Given the description of an element on the screen output the (x, y) to click on. 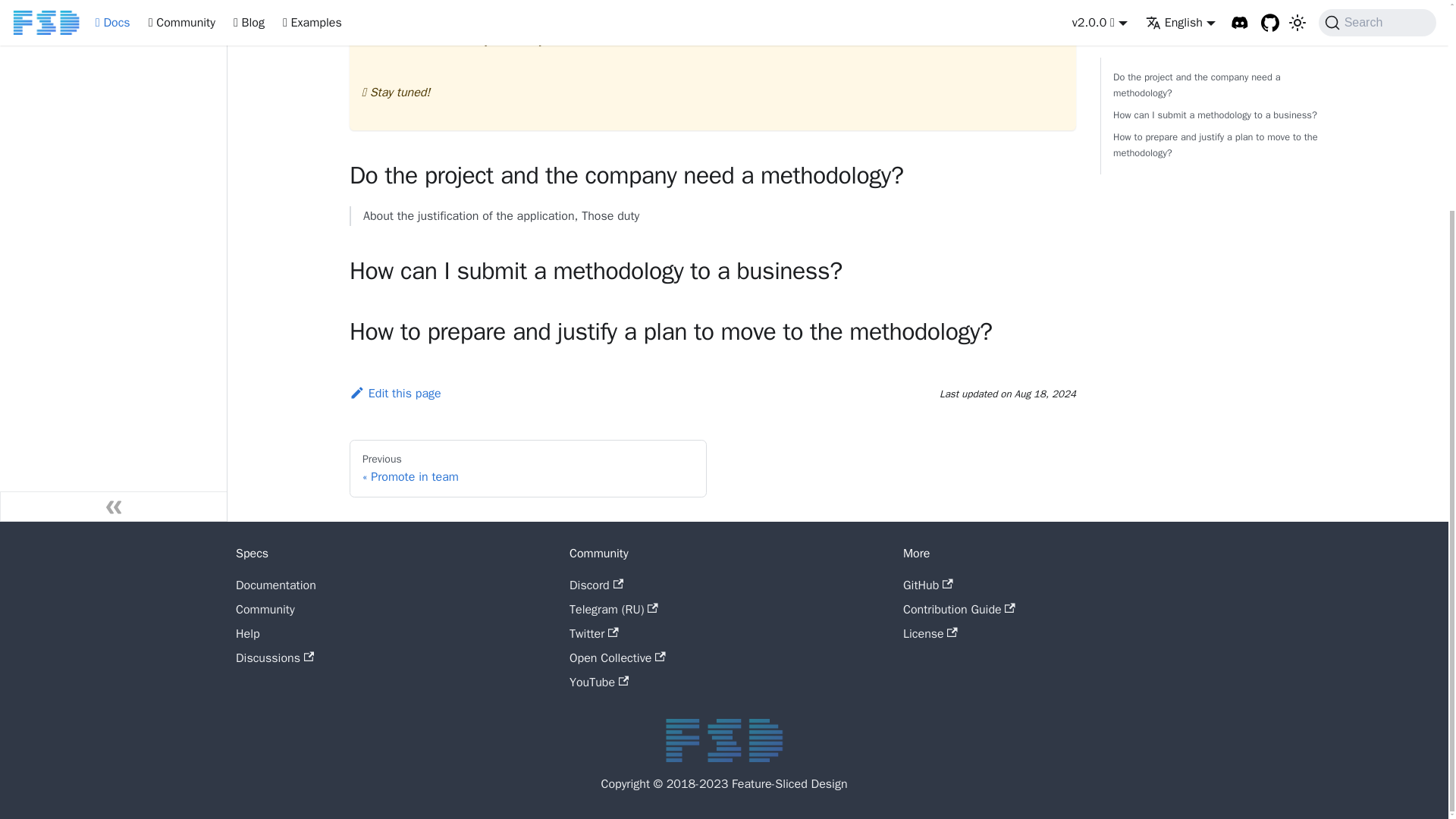
Collapse sidebar (113, 506)
in any other way (501, 39)
material on the topic from chat (581, 17)
Promote in team (119, 8)
Promote in company (119, 31)
